Given the description of an element on the screen output the (x, y) to click on. 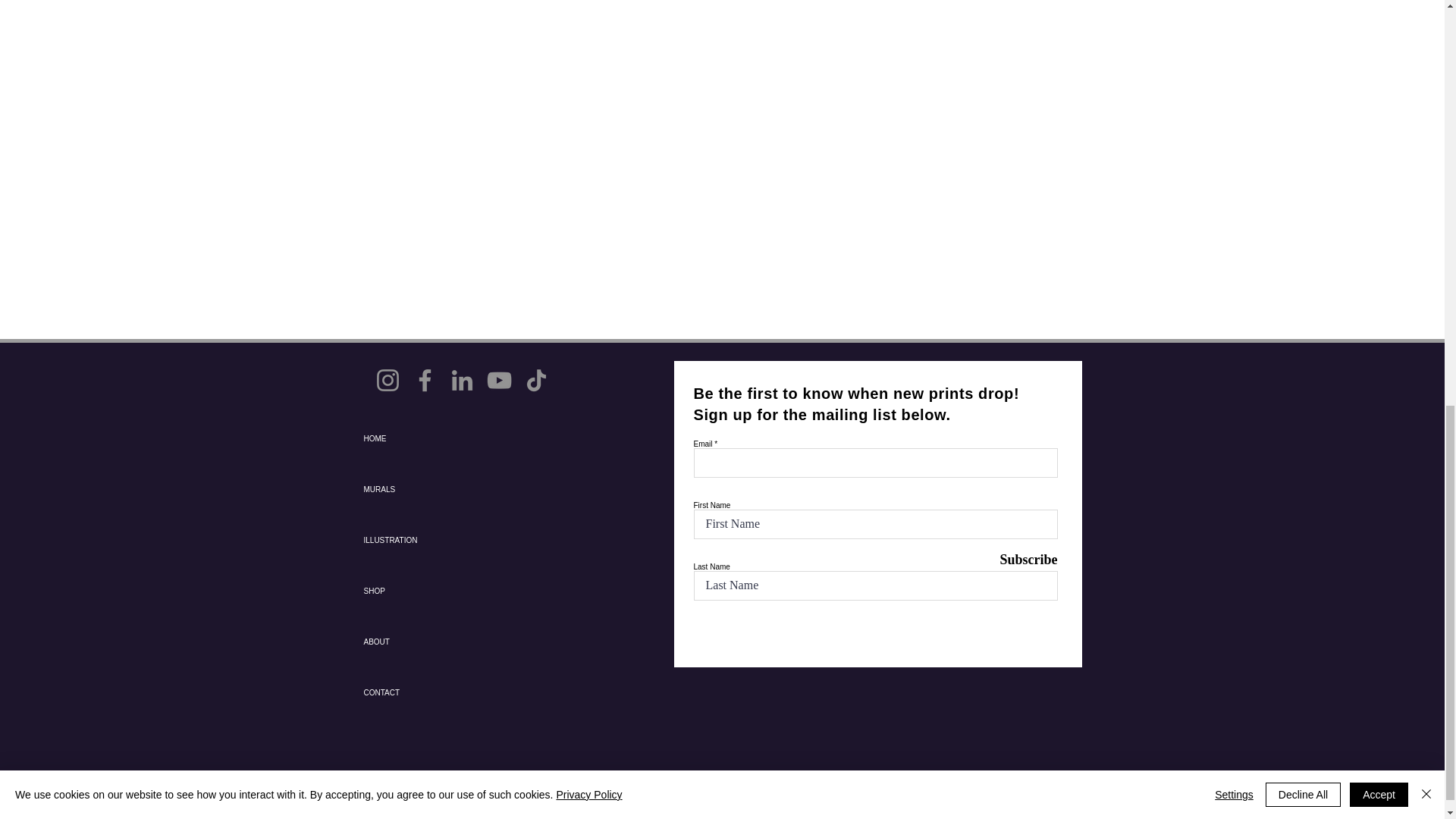
HOME (417, 438)
CONTACT (417, 692)
MURALS (417, 489)
ILLUSTRATION (417, 540)
ABOUT (417, 641)
Subscribe (1019, 560)
SHOP (417, 590)
PRIVACY POLICY (410, 784)
